Given the description of an element on the screen output the (x, y) to click on. 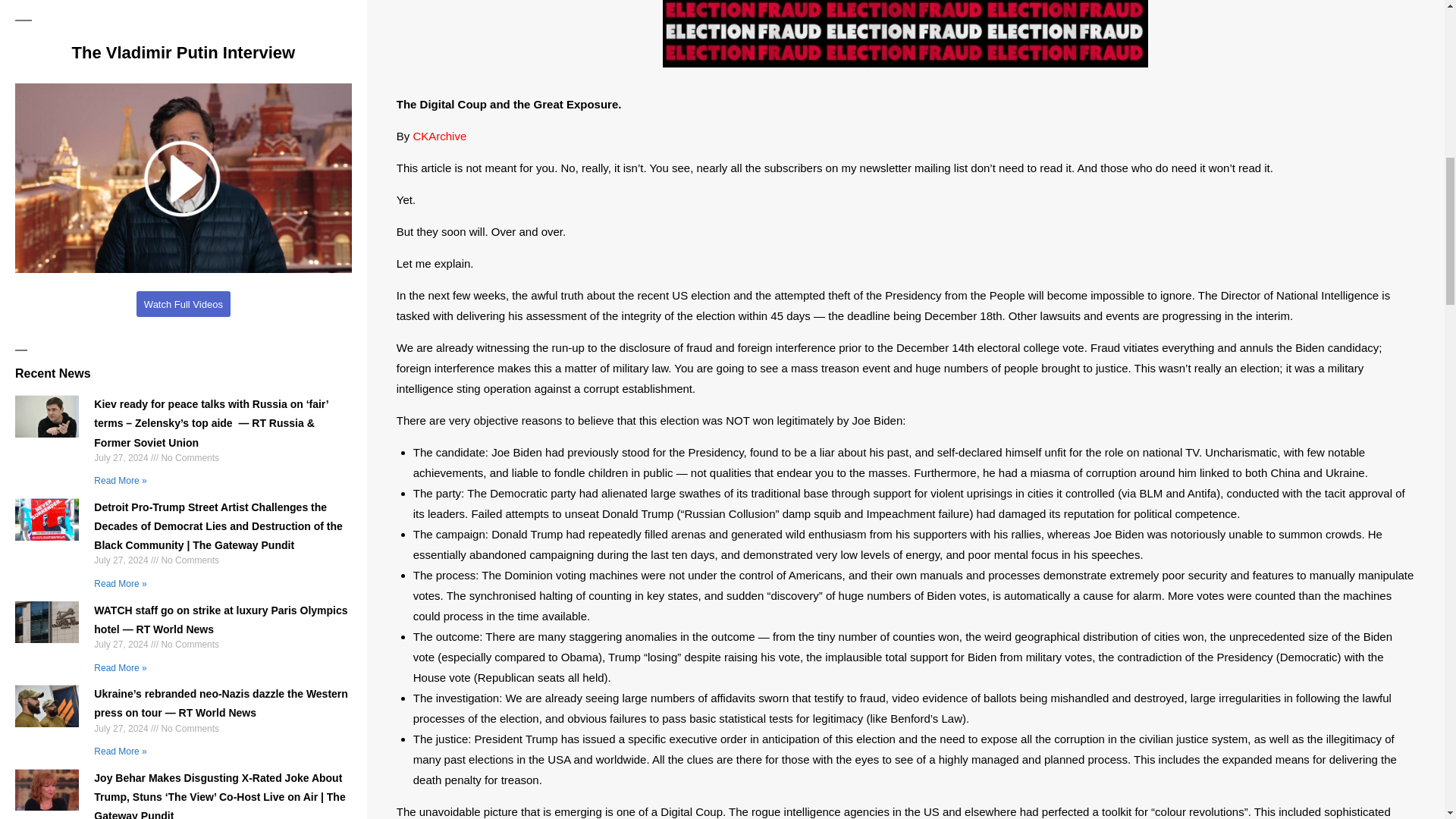
Watch Full Videos (183, 303)
